Given the description of an element on the screen output the (x, y) to click on. 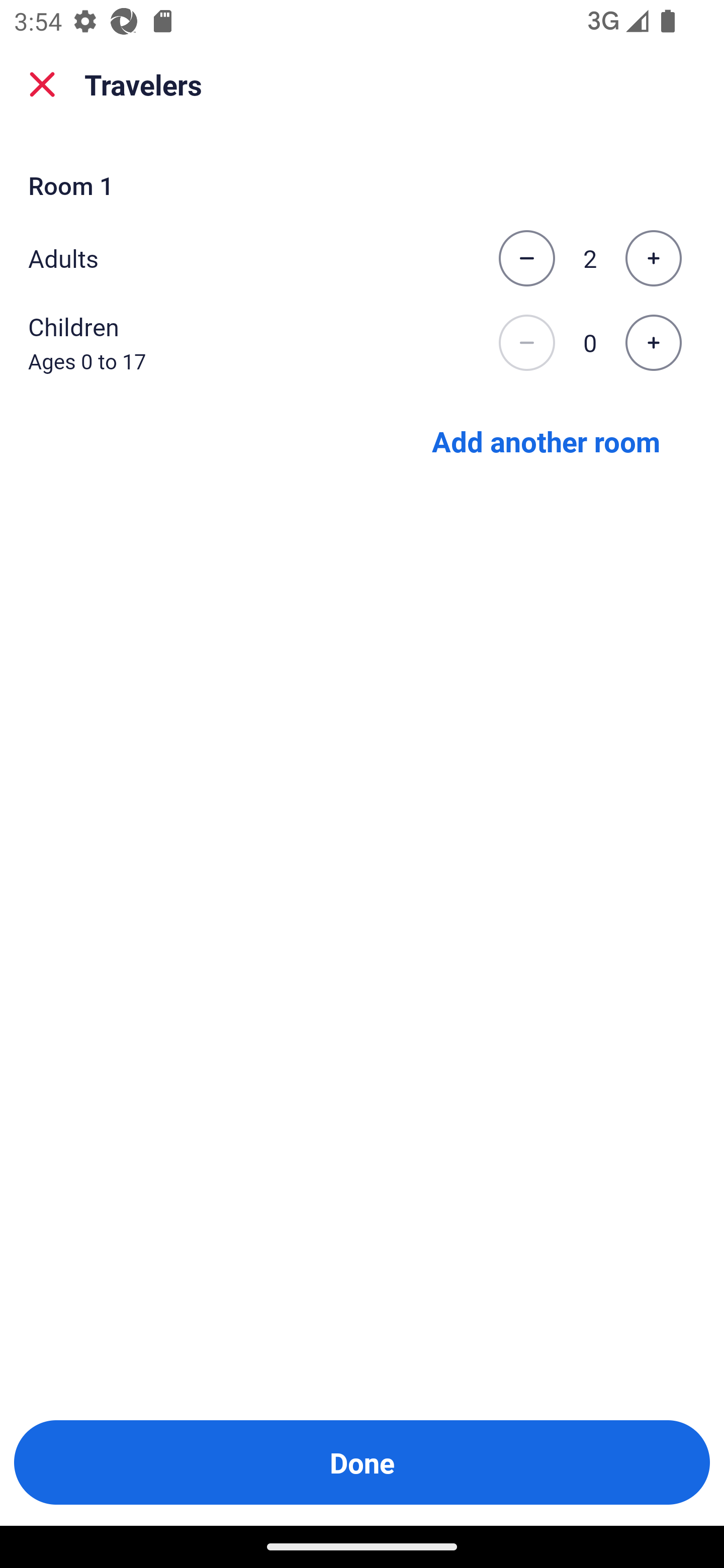
close (42, 84)
Decrease the number of adults (526, 258)
Increase the number of adults (653, 258)
Decrease the number of children (526, 343)
Increase the number of children (653, 343)
Add another room (545, 440)
Done (361, 1462)
